Given the description of an element on the screen output the (x, y) to click on. 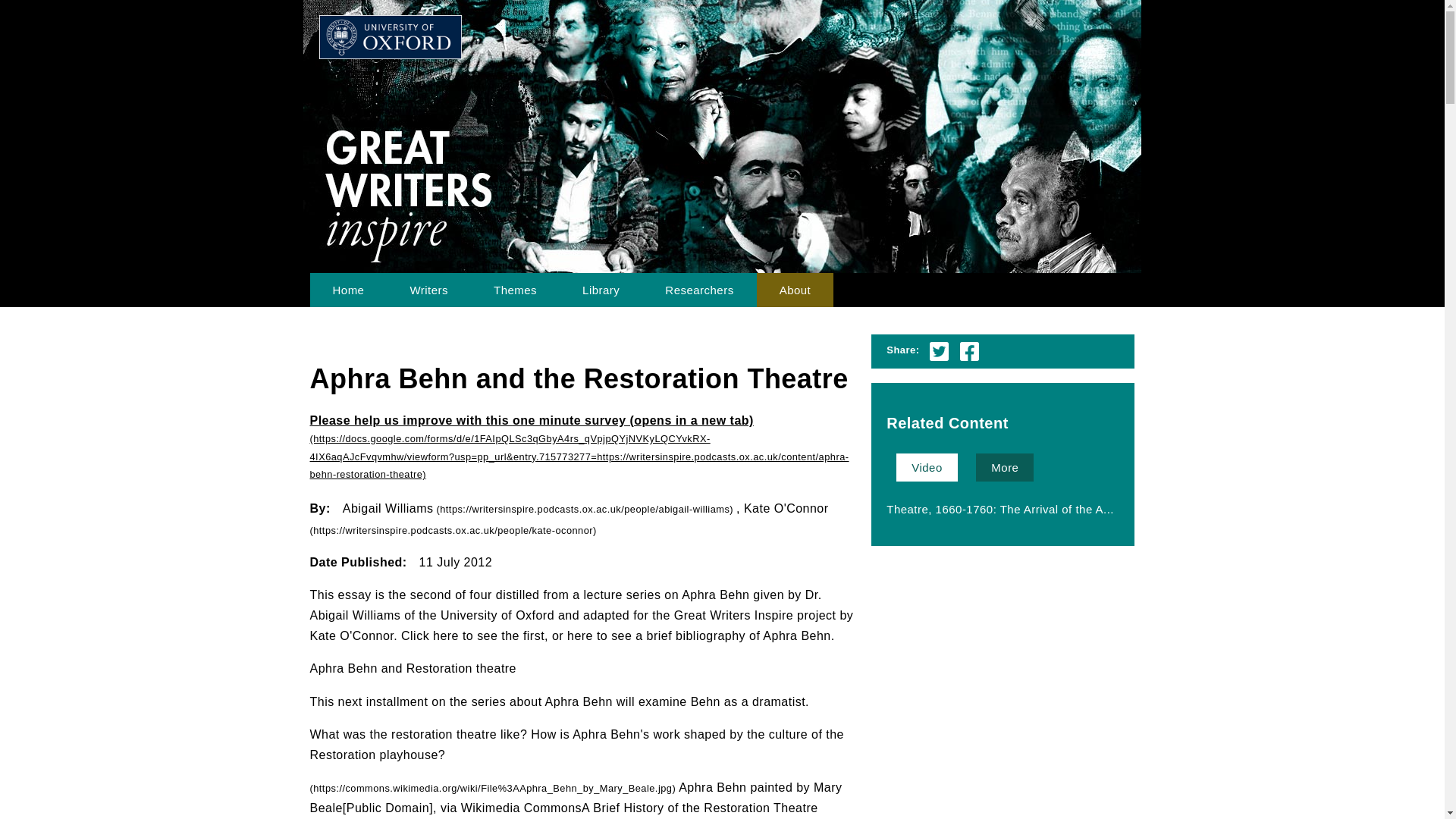
Library of all media files (600, 289)
Home (347, 289)
Twitter (939, 350)
Theatre, 1660-1760: The Arrival of the Actress (999, 508)
A presentation of the project. (795, 289)
Kate O'Connor (568, 518)
Theatre, 1660-1760: The Arrival of the A... (999, 508)
Library (600, 289)
Great Writers Inspire Homepage (347, 289)
Themes of the Great Writers (514, 289)
About (795, 289)
Video (927, 467)
The Great Writers (428, 289)
Facebook (968, 350)
Great Writers Inspire (520, 49)
